Given the description of an element on the screen output the (x, y) to click on. 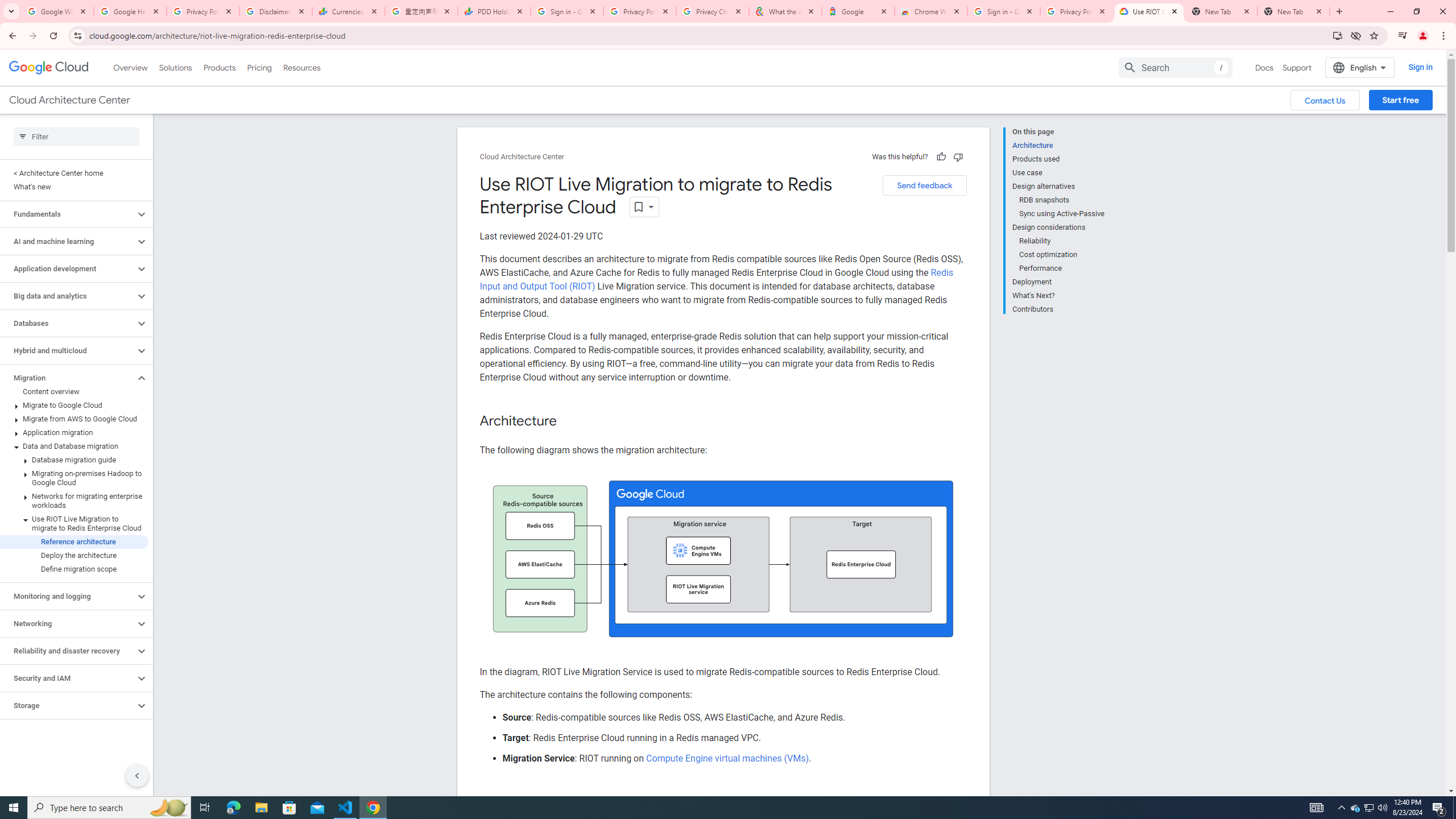
New Tab (1293, 11)
RDB snapshots (1062, 200)
AI and machine learning (67, 241)
Contact Us (1324, 100)
Migrate from AWS to Google Cloud (74, 418)
Database migration guide (74, 459)
English (1359, 67)
Pricing (259, 67)
Use RIOT Live Migration to migrate to Redis Enterprise Cloud (74, 523)
Docs, selected (1264, 67)
Migration (67, 377)
Currencies - Google Finance (348, 11)
